Given the description of an element on the screen output the (x, y) to click on. 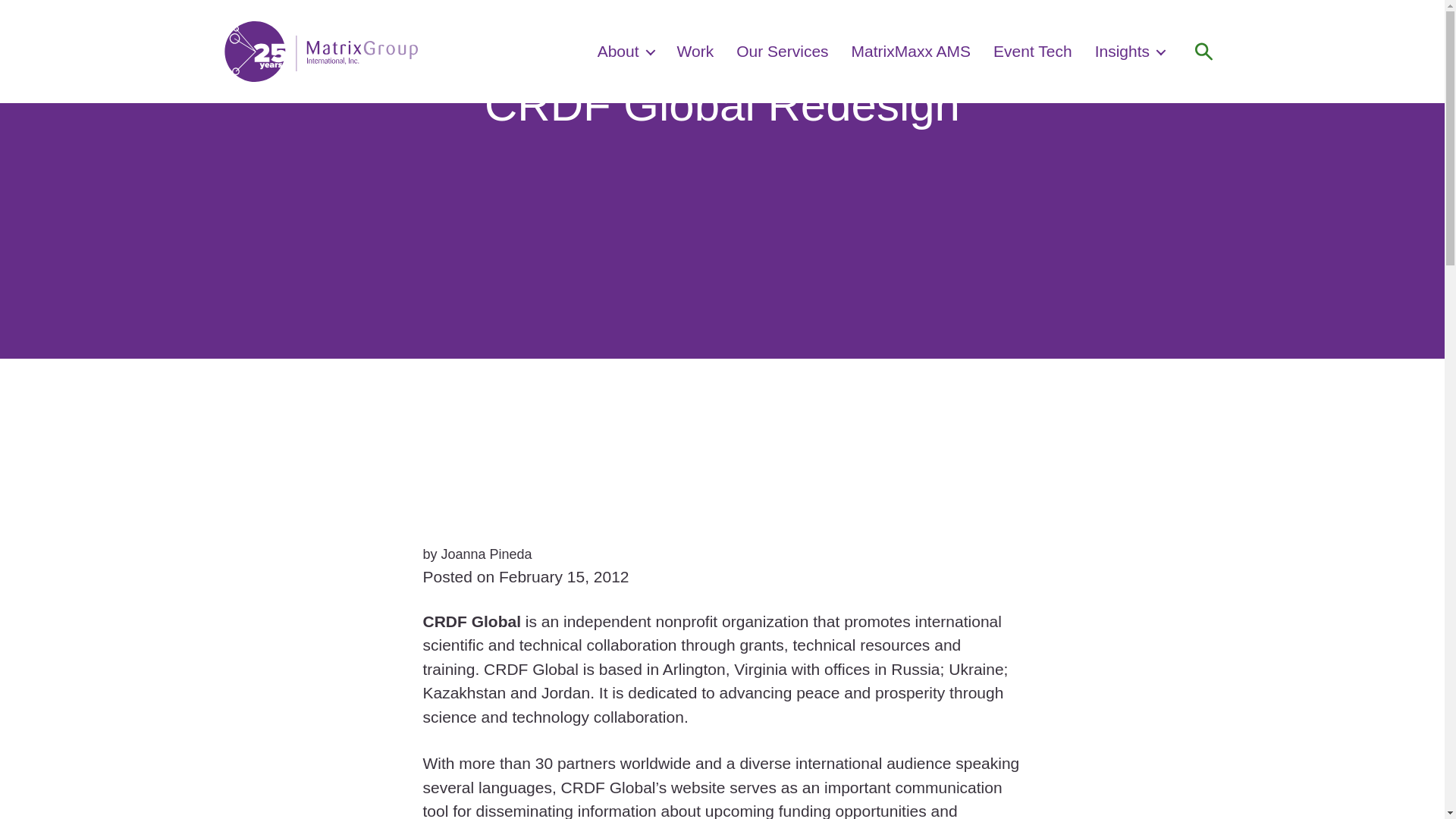
Search (1204, 51)
MatrixMaxx AMS (911, 50)
Our Services (782, 50)
Event Tech (1031, 50)
About (624, 50)
Insights (1129, 50)
Work (695, 50)
